Given the description of an element on the screen output the (x, y) to click on. 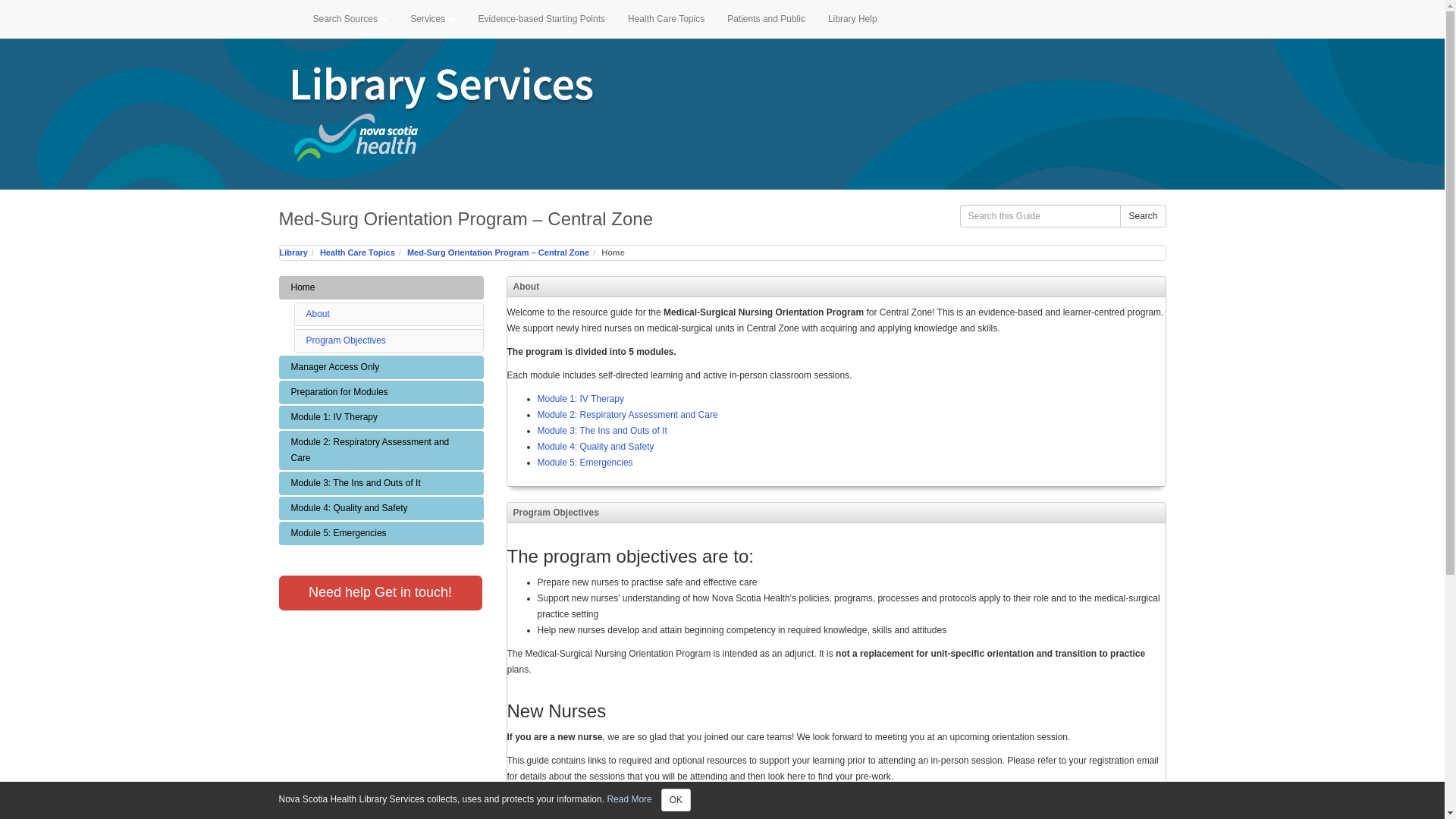
Preparation for Modules (381, 392)
Read More (628, 798)
Search Sources (349, 18)
Home (381, 287)
Library (293, 252)
Module 4: Quality and Safety (381, 508)
Need help Get in touch! (380, 592)
Patients and Public (766, 18)
Evidence-based Starting Points (541, 18)
Library Help (852, 18)
Services (431, 18)
Manager Access Only (381, 367)
Module 5: Emergencies (381, 533)
Module 2: Respiratory Assessment and Care (381, 450)
About (317, 313)
